Given the description of an element on the screen output the (x, y) to click on. 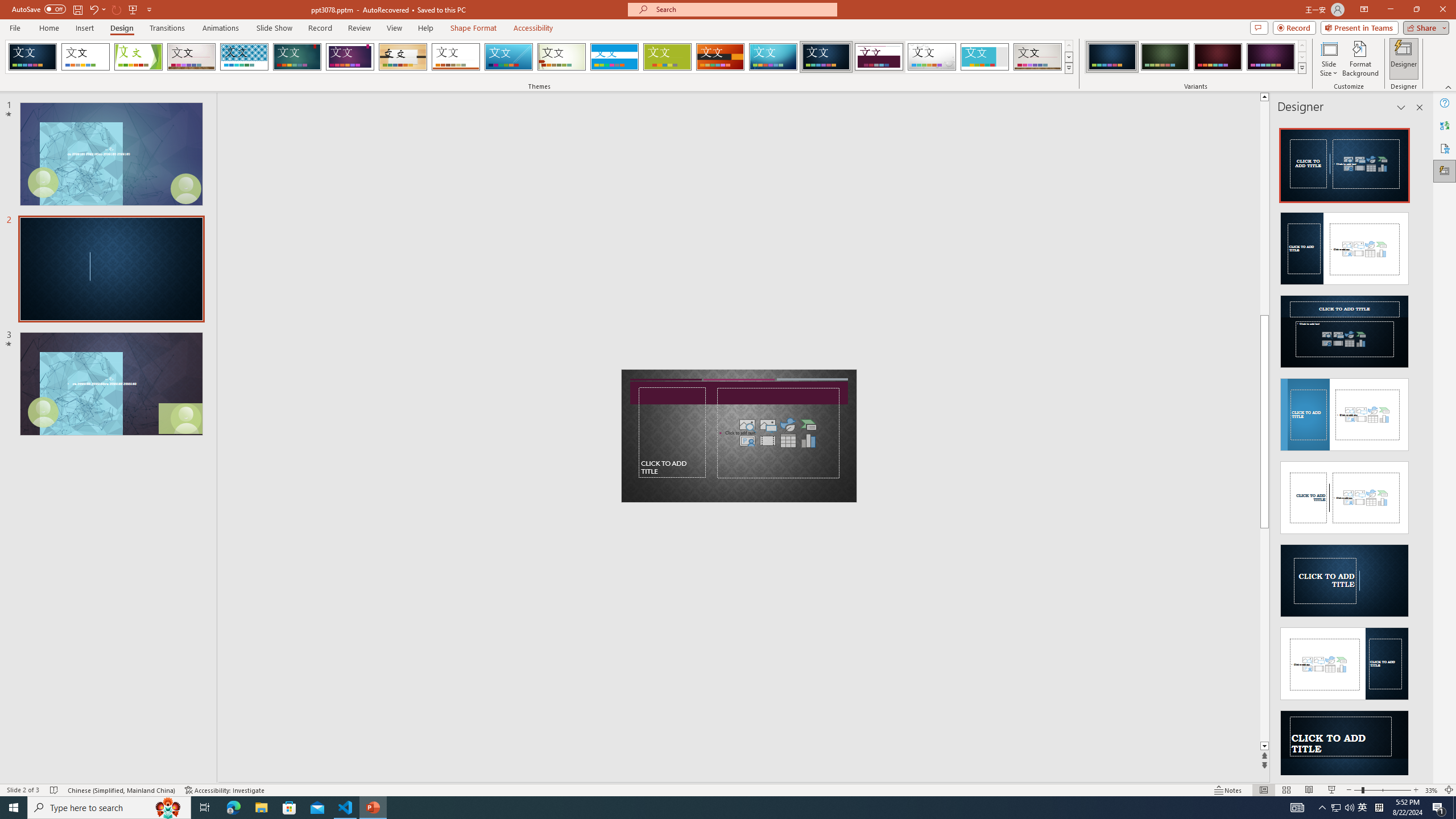
Line up (1264, 96)
Home (48, 28)
Line down (1264, 746)
Shape Format (473, 28)
Restore Down (1416, 9)
Reading View (1308, 790)
Slide Sorter (1286, 790)
Customize Quick Access Toolbar (149, 9)
Insert Cameo (747, 440)
Transitions (167, 28)
Banded (614, 56)
Row Down (1301, 56)
Pictures (767, 424)
